Given the description of an element on the screen output the (x, y) to click on. 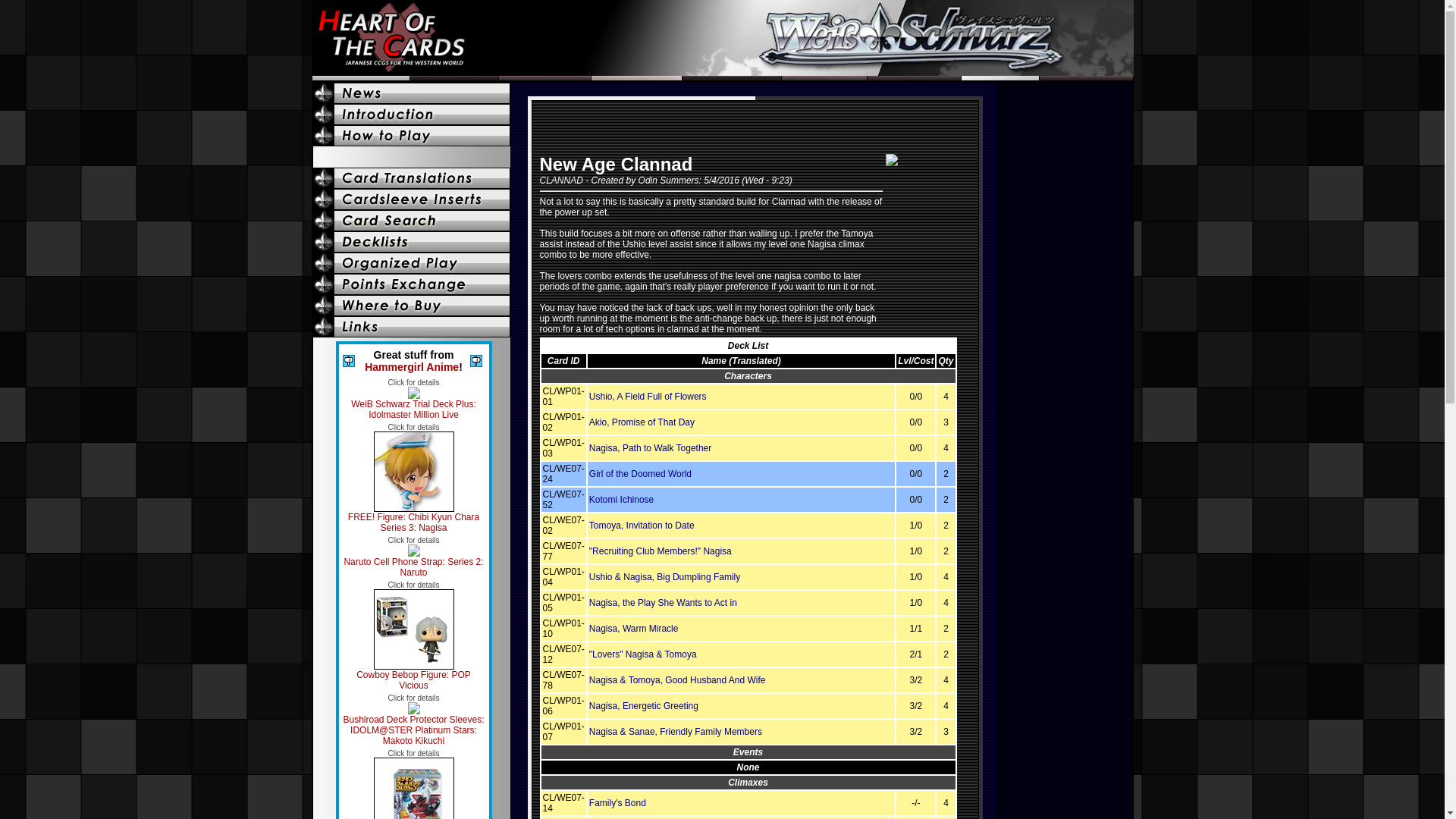
Card Search (413, 219)
Cardlist (413, 178)
Kotomi Ichinose (621, 499)
Nagisa, Warm Miracle (633, 628)
Akio, Promise of That Day (641, 421)
How to Play (413, 135)
Points Exchange (413, 556)
News (413, 283)
Sleeve Creator (413, 635)
Advertisement (413, 93)
Introduction (413, 199)
